Given the description of an element on the screen output the (x, y) to click on. 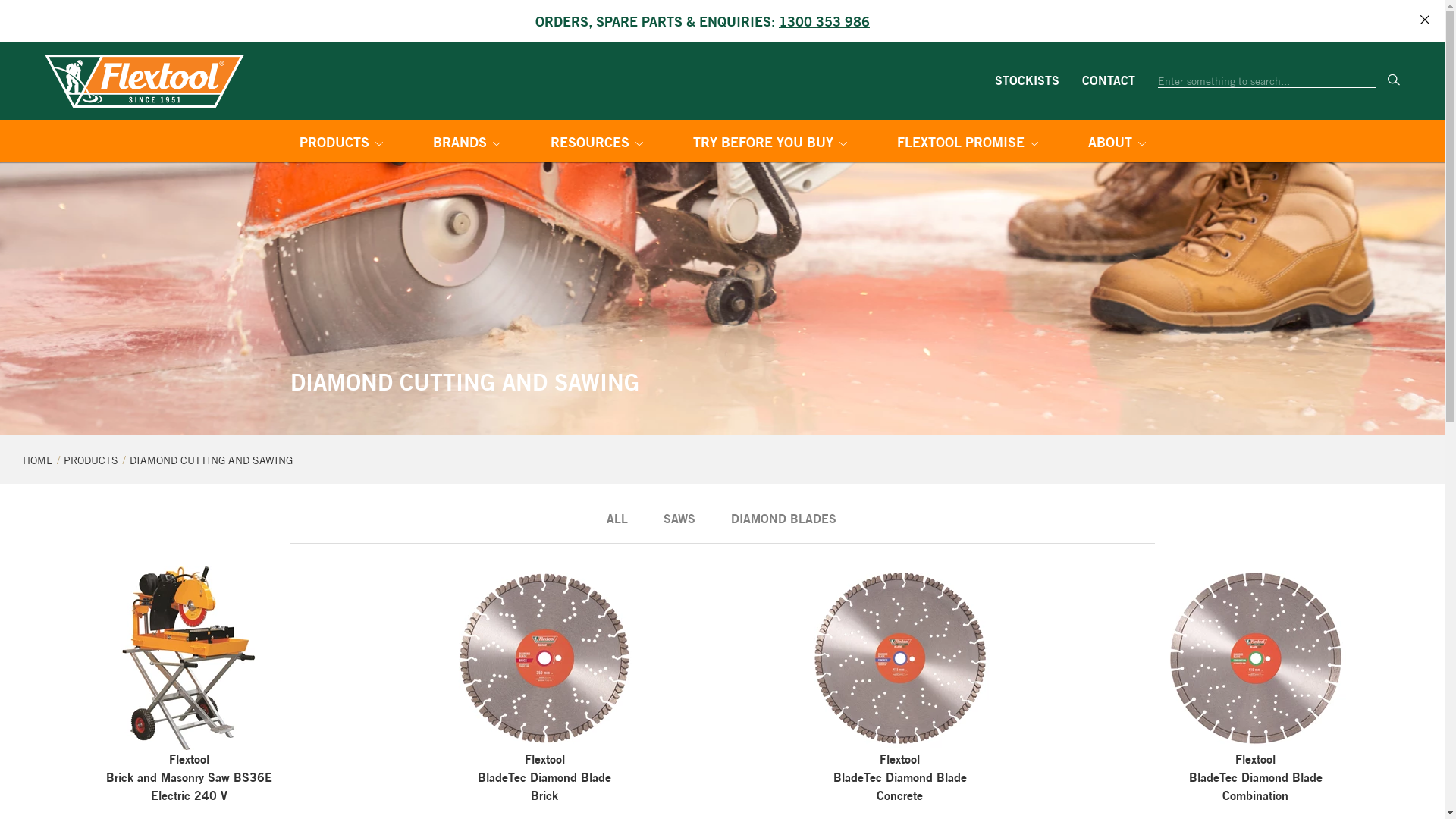
Flextool
BladeTec Diamond Blade
Brick Element type: text (544, 685)
SAWS Element type: text (679, 516)
STOCKISTS Element type: text (1026, 79)
Flextool Element type: hover (144, 80)
ALL Element type: text (617, 516)
1300 353 986 Element type: text (823, 20)
RESOURCES Element type: text (596, 143)
HOME Element type: text (37, 460)
BRANDS Element type: text (465, 143)
Flextool
Brick and Masonry Saw BS36E
Electric 240 V Element type: text (188, 685)
FLEXTOOL PROMISE Element type: text (966, 143)
PRODUCTS Element type: text (90, 460)
DIAMOND BLADES Element type: text (783, 516)
CONTACT Element type: text (1108, 79)
TRY BEFORE YOU BUY Element type: text (770, 143)
PRODUCTS Element type: text (340, 143)
Flextool
BladeTec Diamond Blade
Combination Element type: text (1254, 685)
ABOUT Element type: text (1116, 143)
Flextool
BladeTec Diamond Blade
Concrete Element type: text (900, 685)
